Given the description of an element on the screen output the (x, y) to click on. 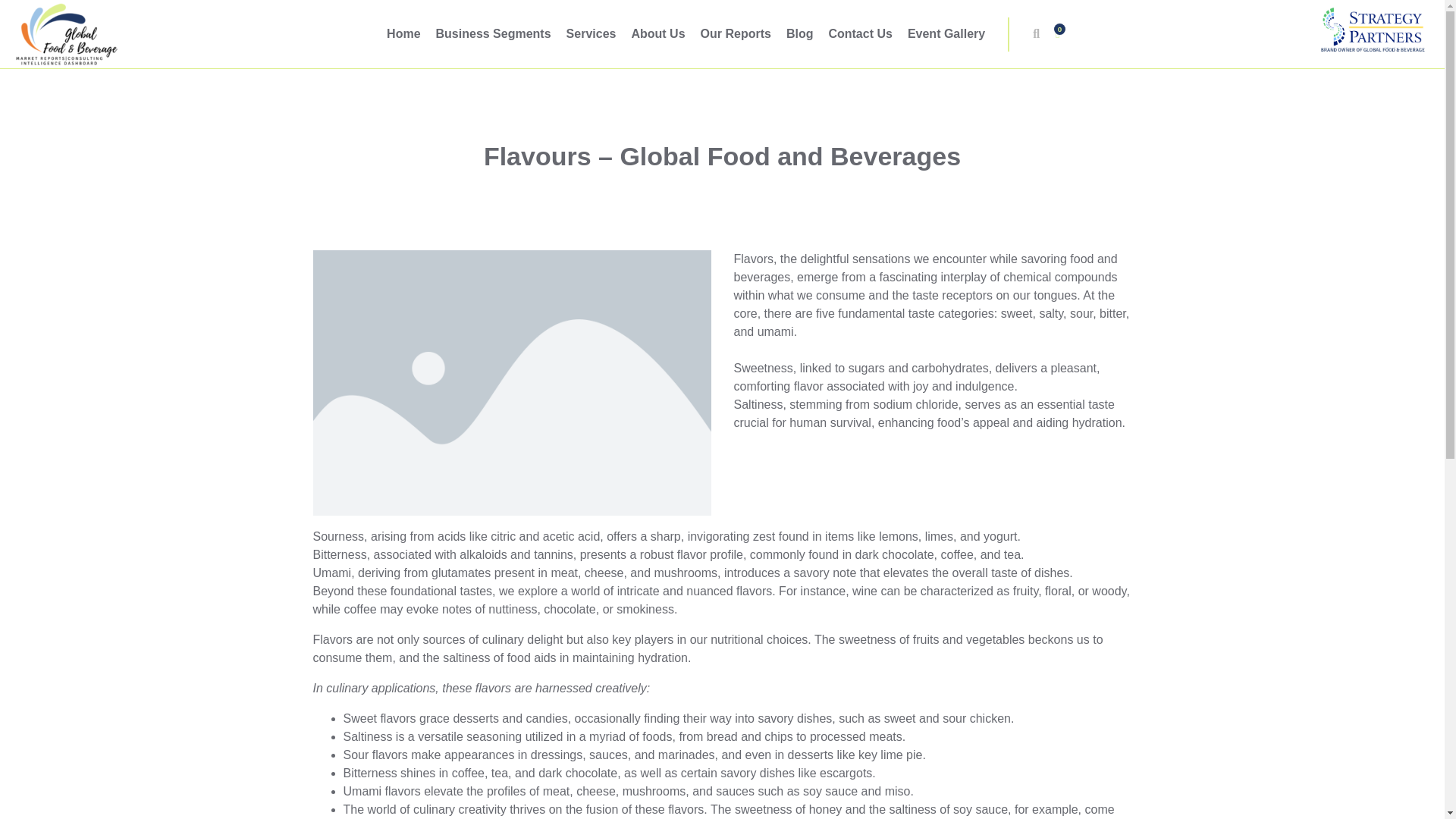
Business Segments (493, 33)
Our Reports (735, 33)
Event Gallery (946, 33)
Global Food and Beverages (65, 33)
Contact Us (859, 33)
